Given the description of an element on the screen output the (x, y) to click on. 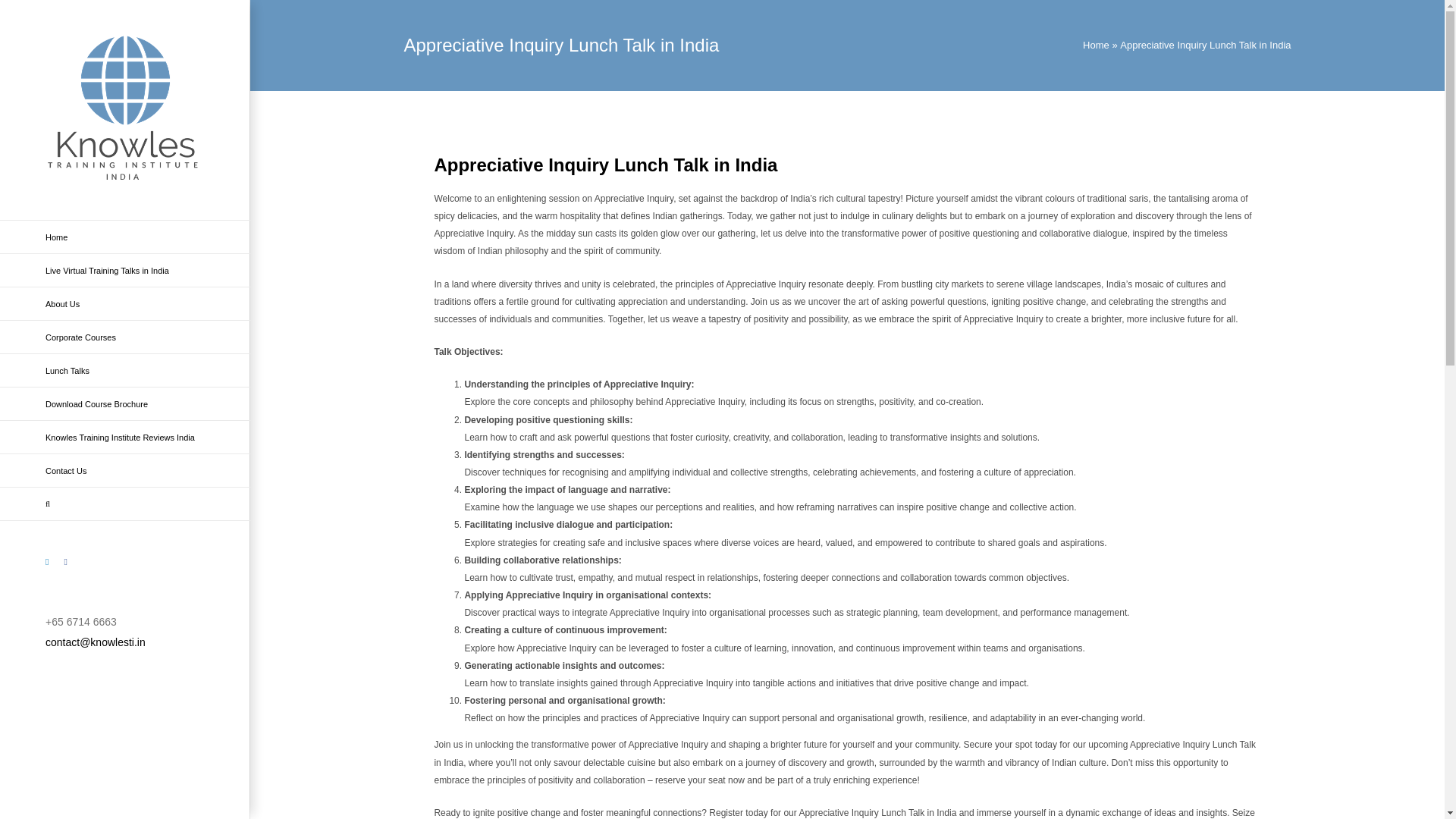
Knowles Training Institute Reviews India (125, 437)
Download Course Brochure (125, 403)
Lunch Talks (125, 370)
Corporate Courses (125, 337)
Live Virtual Training Talks in India (125, 270)
Home (125, 236)
Home (1096, 44)
About Us (125, 304)
Contact Us (125, 470)
Search (125, 503)
